Given the description of an element on the screen output the (x, y) to click on. 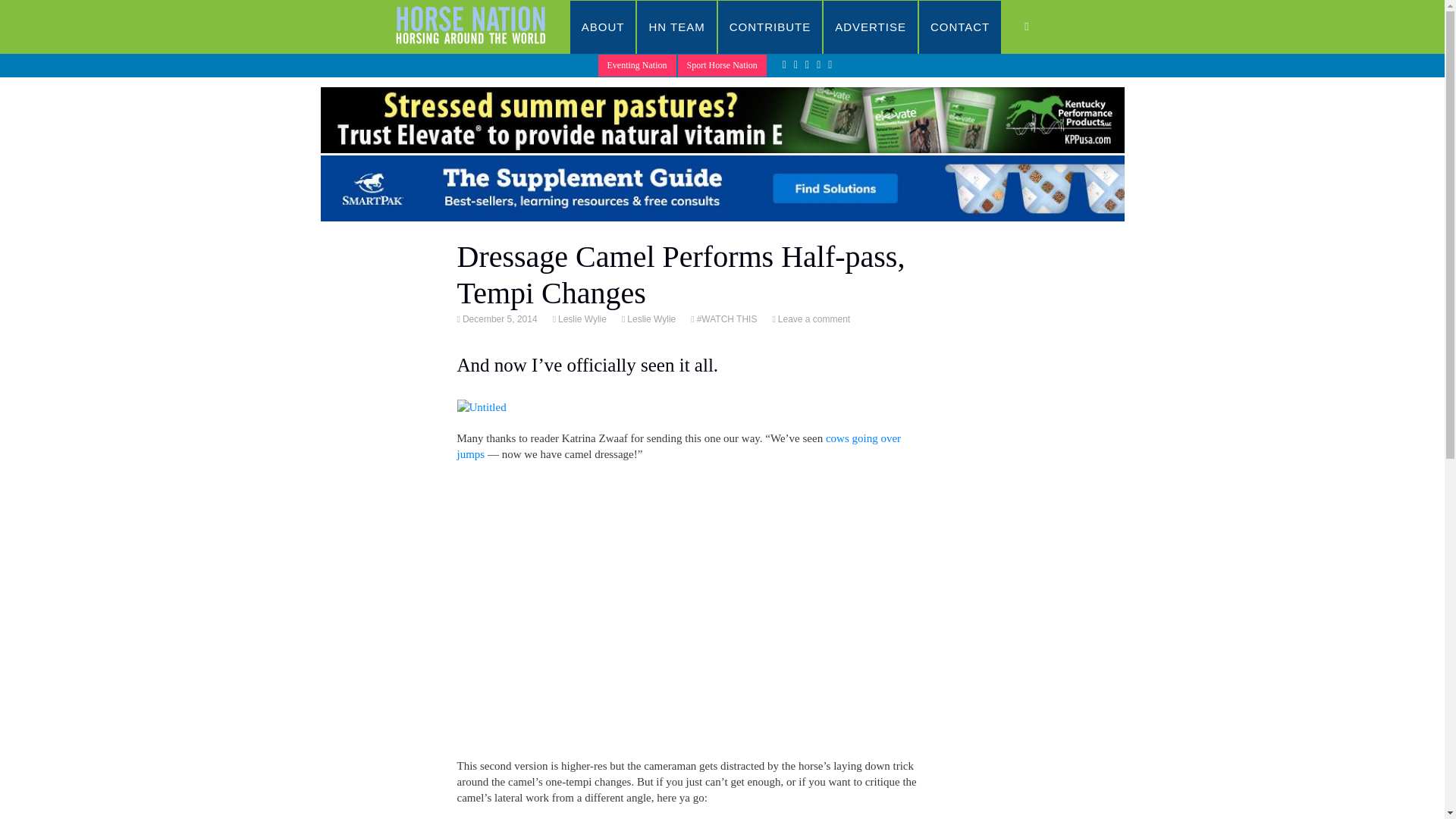
Leslie Wylie (581, 318)
CONTRIBUTE (769, 27)
ADVERTISE (870, 27)
View all posts by Leslie Wylie (581, 318)
Sport Horse Nation (722, 65)
SEARCH (1041, 27)
Leave a comment (813, 318)
CONTACT (959, 27)
Eventing Nation (637, 65)
HN TEAM (676, 27)
